Given the description of an element on the screen output the (x, y) to click on. 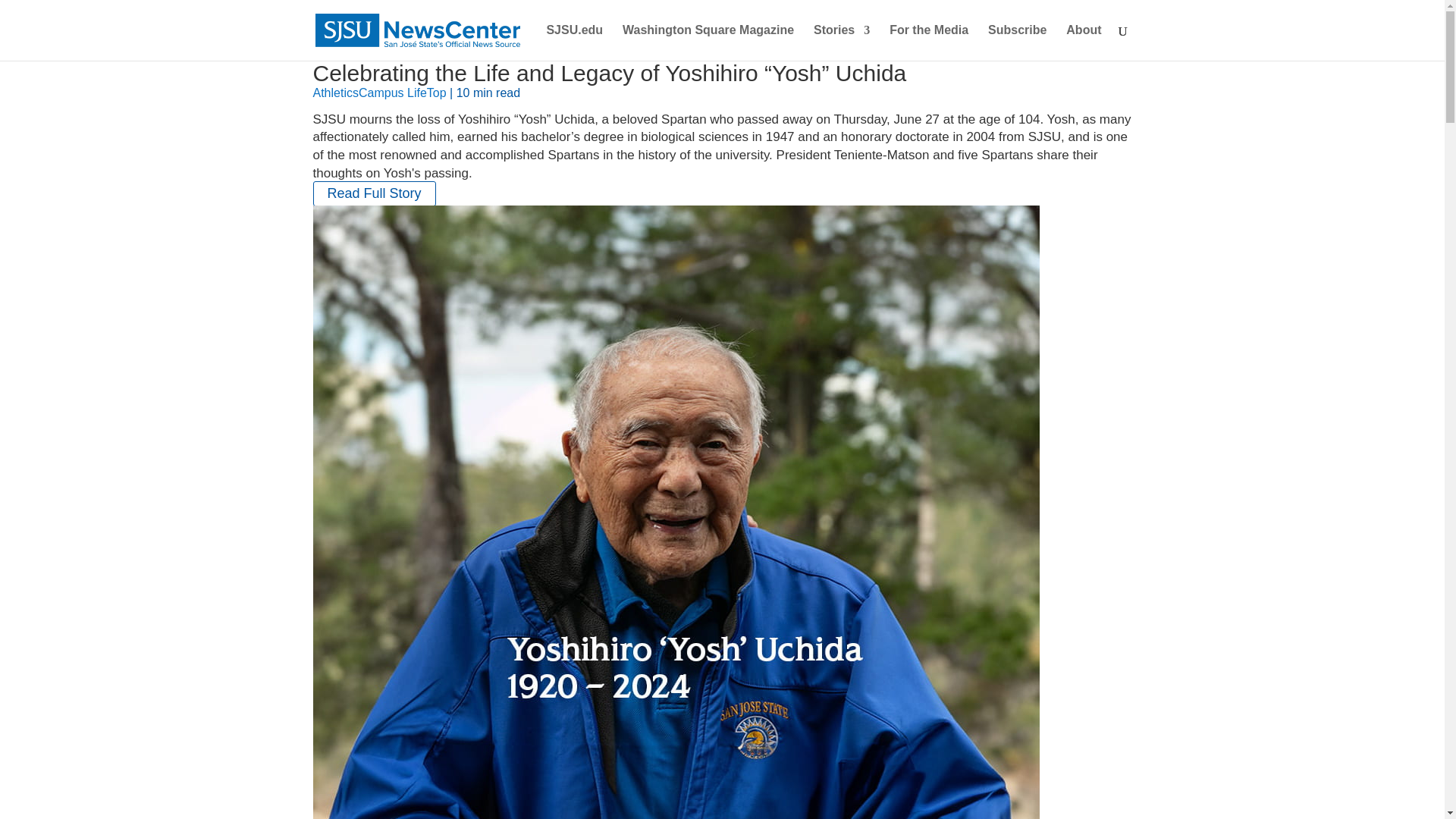
Athletics (335, 92)
SJSU.edu (574, 42)
Top (436, 92)
Stories (841, 42)
About (1082, 42)
Subscribe (1017, 42)
Campus Life (392, 92)
Read Full Story (374, 193)
Washington Square Magazine (708, 42)
For the Media (928, 42)
